Given the description of an element on the screen output the (x, y) to click on. 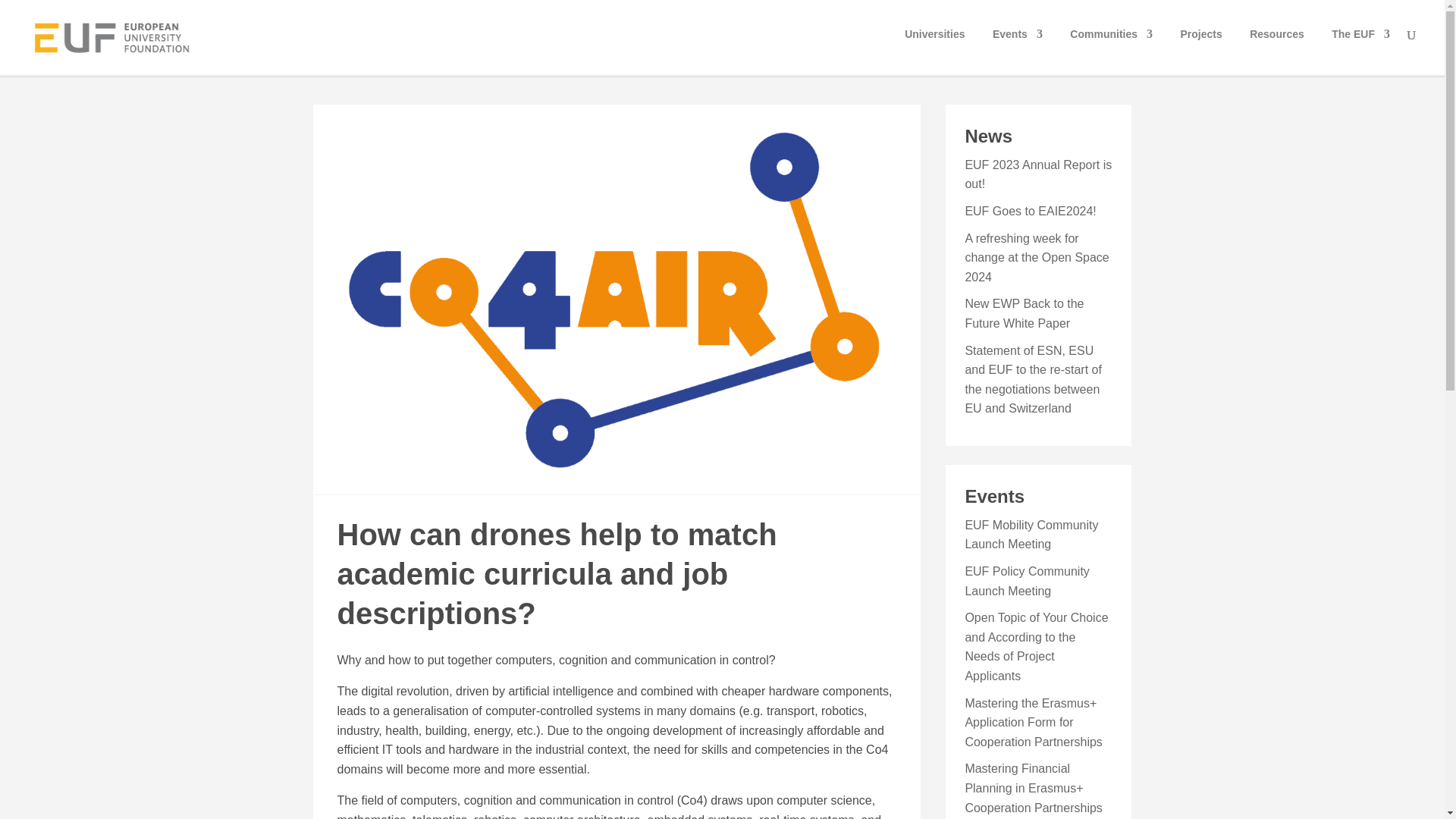
Projects (1200, 47)
The EUF (1361, 47)
Universities (933, 47)
Resources (1276, 47)
Communities (1111, 47)
Events (1017, 47)
